Given the description of an element on the screen output the (x, y) to click on. 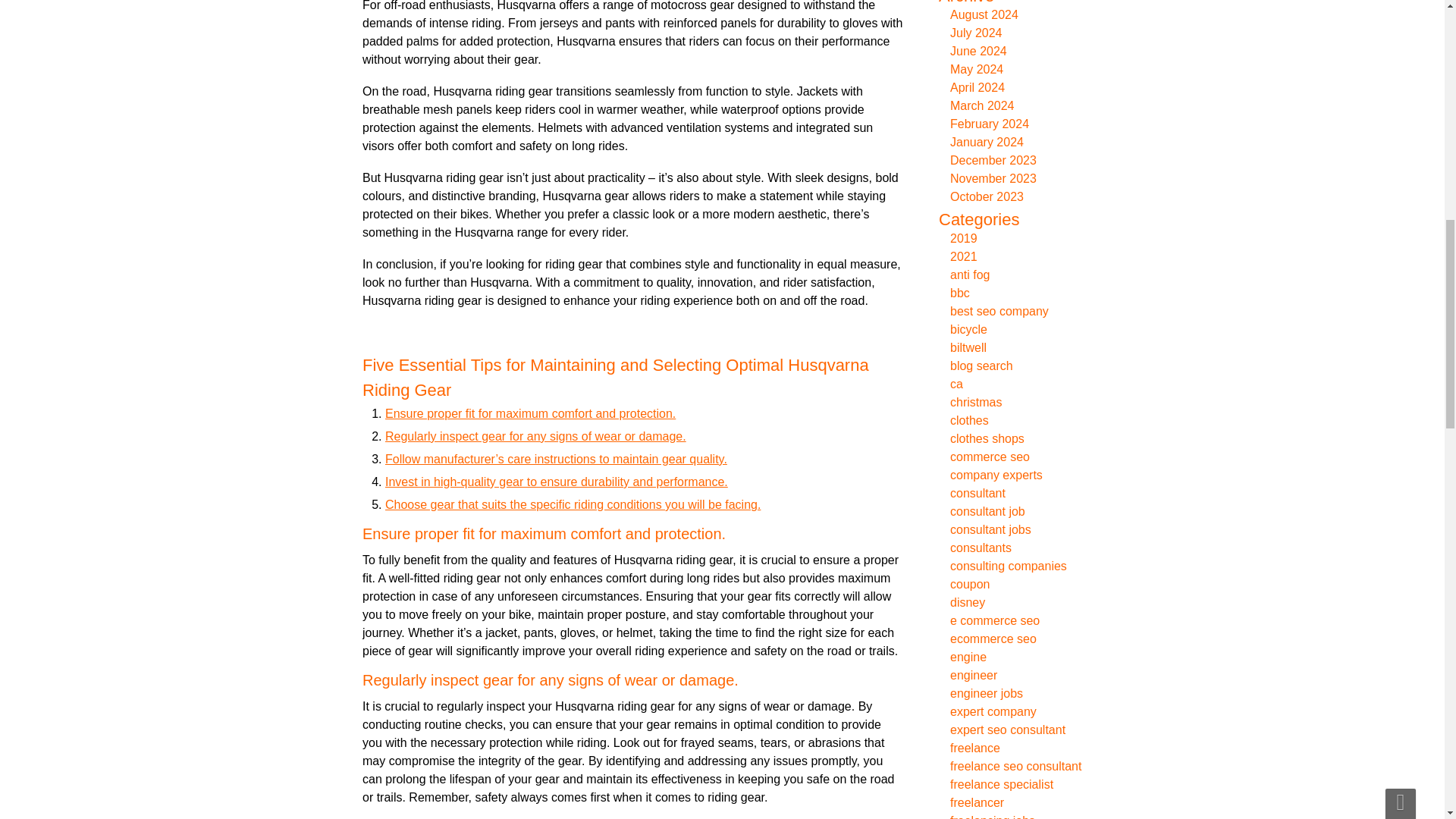
aesthetics (623, 32)
breathable mesh panels (667, 14)
comfort (643, 0)
Regularly inspect gear for any signs of wear or damage. (555, 430)
Ensure proper fit for maximum comfort and protection. (551, 408)
Uncategorized (637, 33)
